Given the description of an element on the screen output the (x, y) to click on. 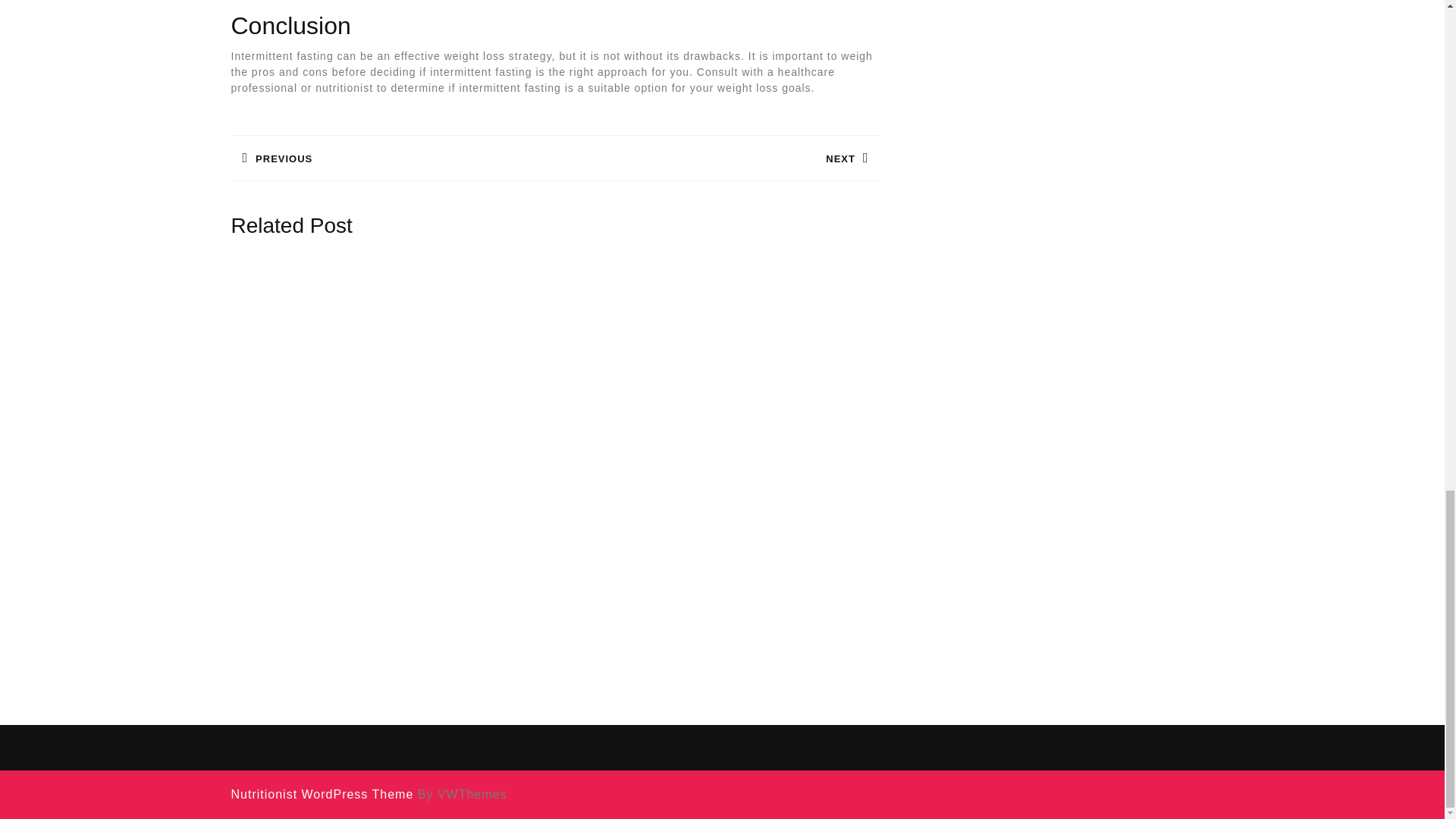
Nutritionist WordPress Theme (321, 793)
